Given the description of an element on the screen output the (x, y) to click on. 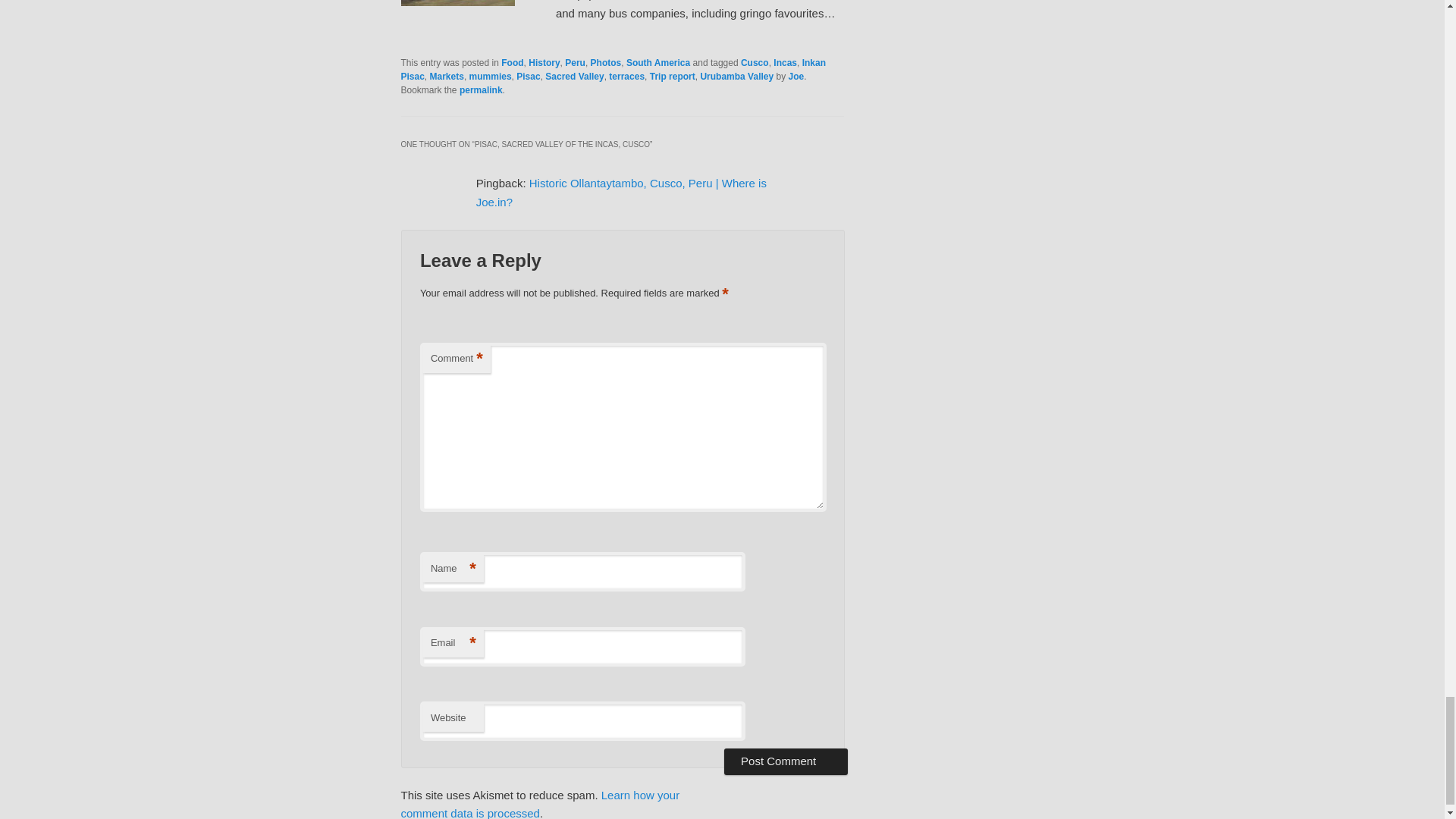
Markets (446, 76)
Incas (784, 62)
Permalink to Pisac, Sacred Valley of the Incas, Cusco (481, 90)
Photos (606, 62)
Sacred Valley (574, 76)
Post Comment (785, 760)
Cusco (754, 62)
terraces (626, 76)
Inkan Pisac (612, 69)
Trip report (672, 76)
